Given the description of an element on the screen output the (x, y) to click on. 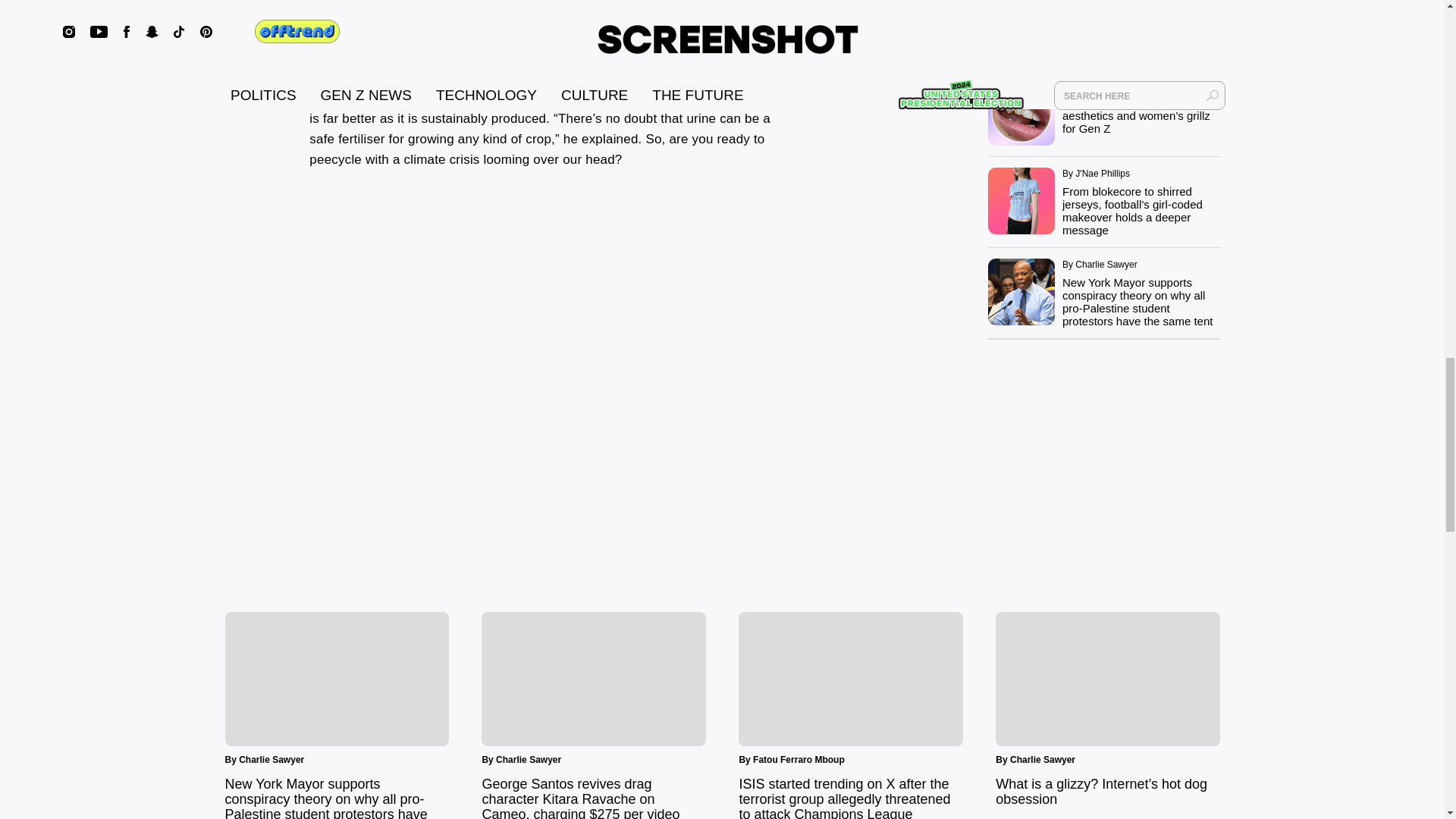
Peecycling (552, 342)
